Given the description of an element on the screen output the (x, y) to click on. 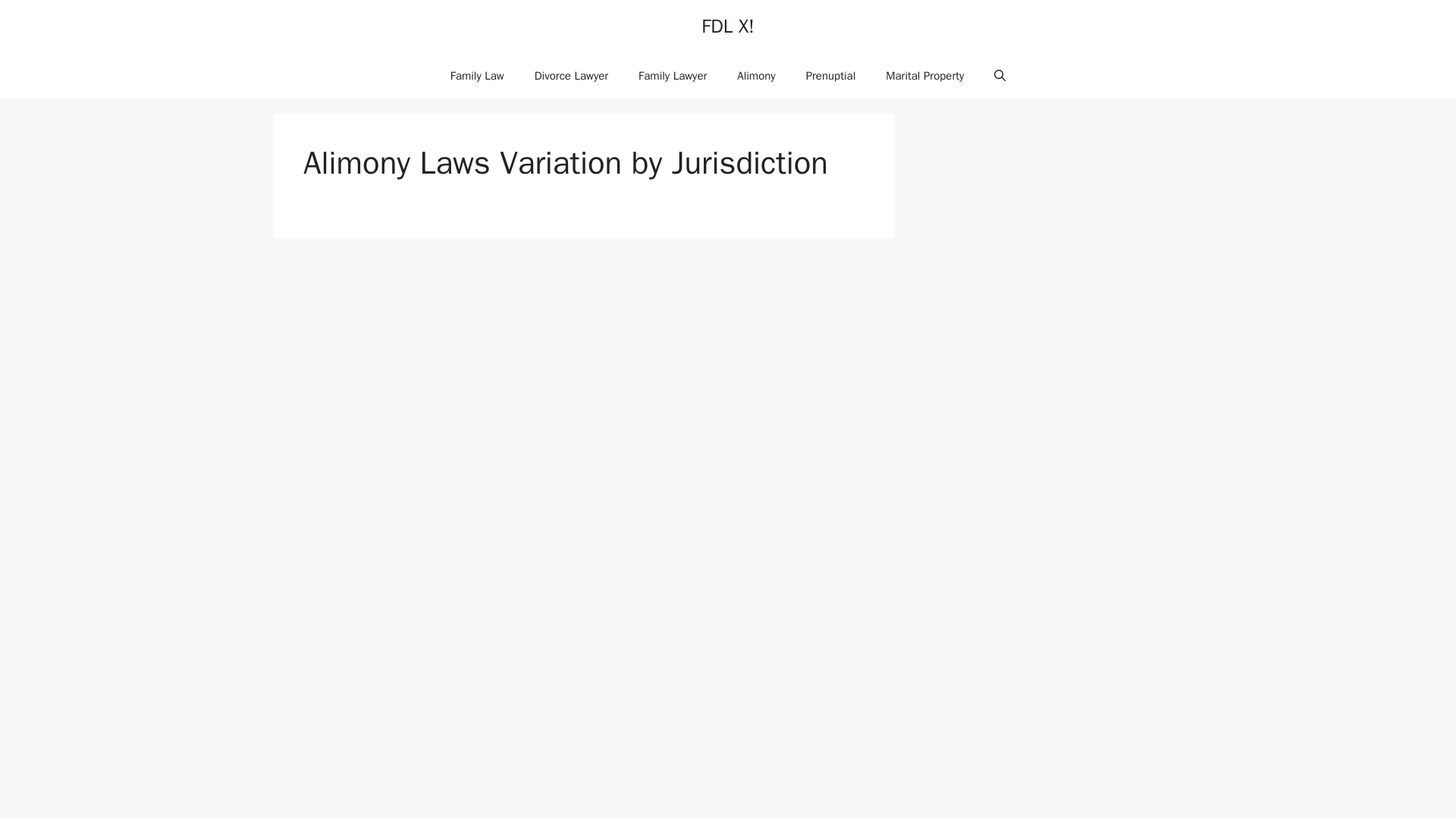
Family Lawyer (672, 75)
Prenuptial (830, 75)
Divorce Lawyer (571, 75)
Marital Property (924, 75)
Alimony (756, 75)
FDL X! (727, 25)
Family Law (477, 75)
